Given the description of an element on the screen output the (x, y) to click on. 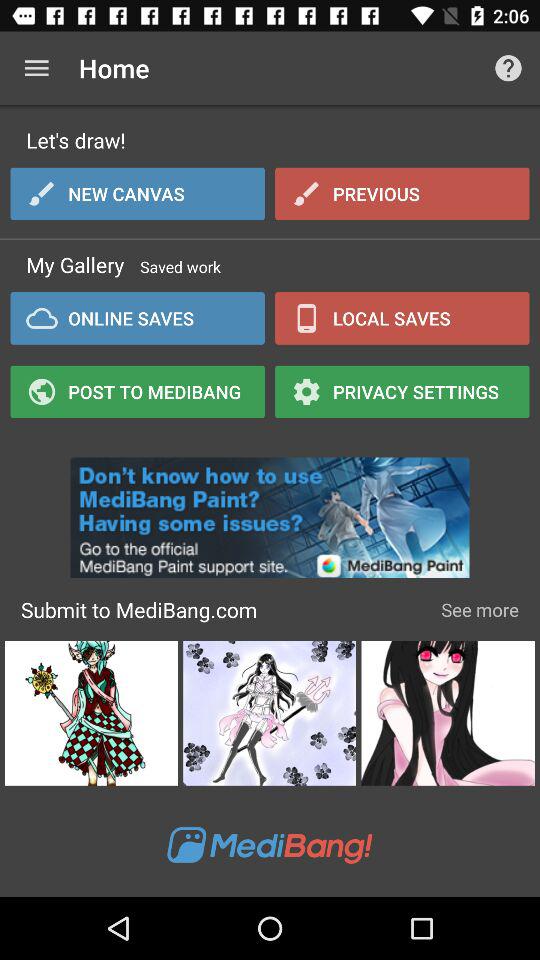
select the icon to the left of home (36, 68)
